Given the description of an element on the screen output the (x, y) to click on. 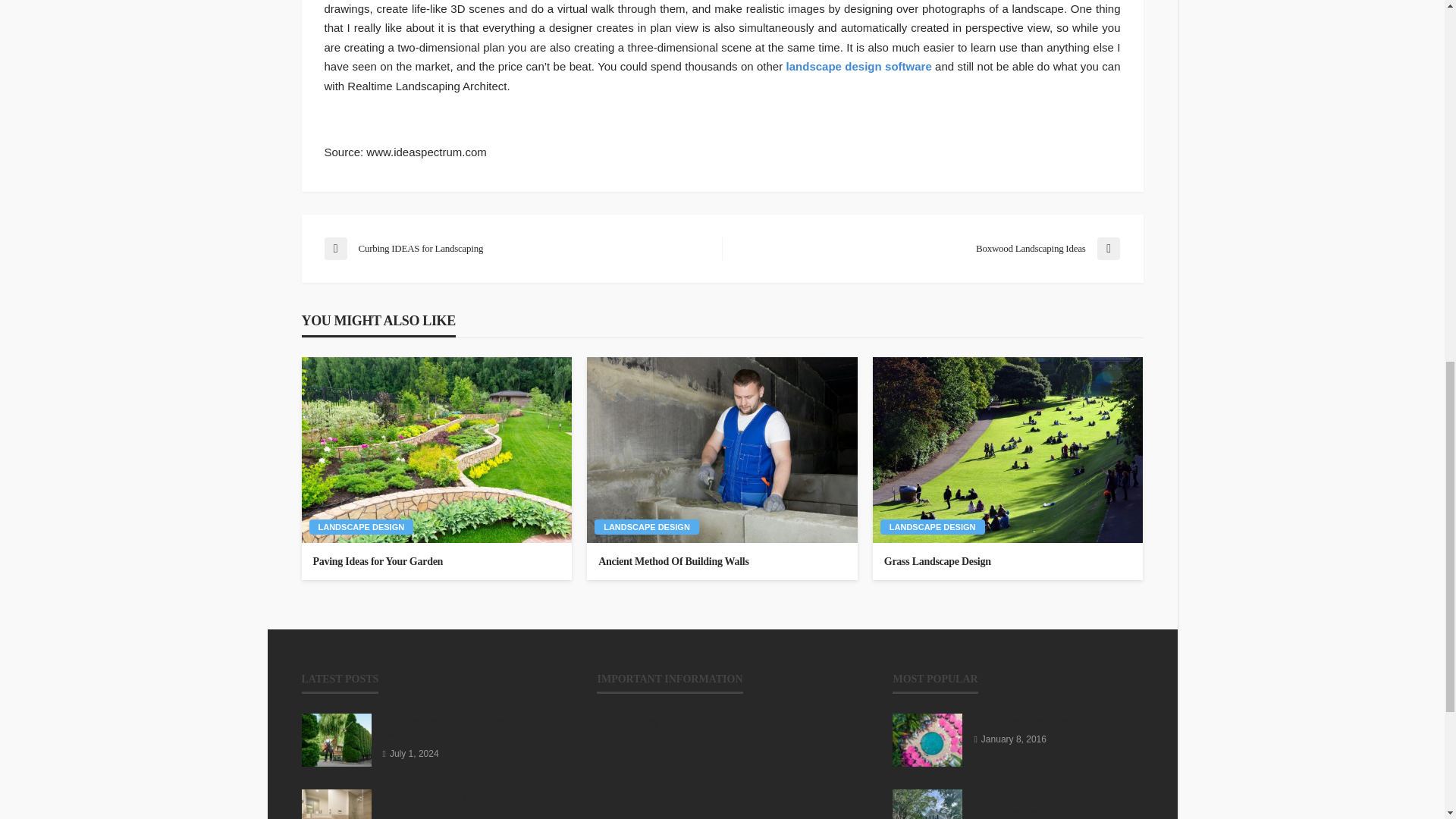
Landscape Design (646, 526)
Paving Ideas for Your Garden (436, 449)
Curbing IDEAS for Landscaping (515, 248)
Paving Ideas for Your Garden (436, 561)
Ancient Method Of Building Walls (721, 561)
Ancient Method Of Building Walls (721, 449)
Boxwood Landscaping Ideas (927, 248)
Landscape Design (360, 526)
Landscape Design Software for Mac (858, 65)
Landscape Design (932, 526)
